Given the description of an element on the screen output the (x, y) to click on. 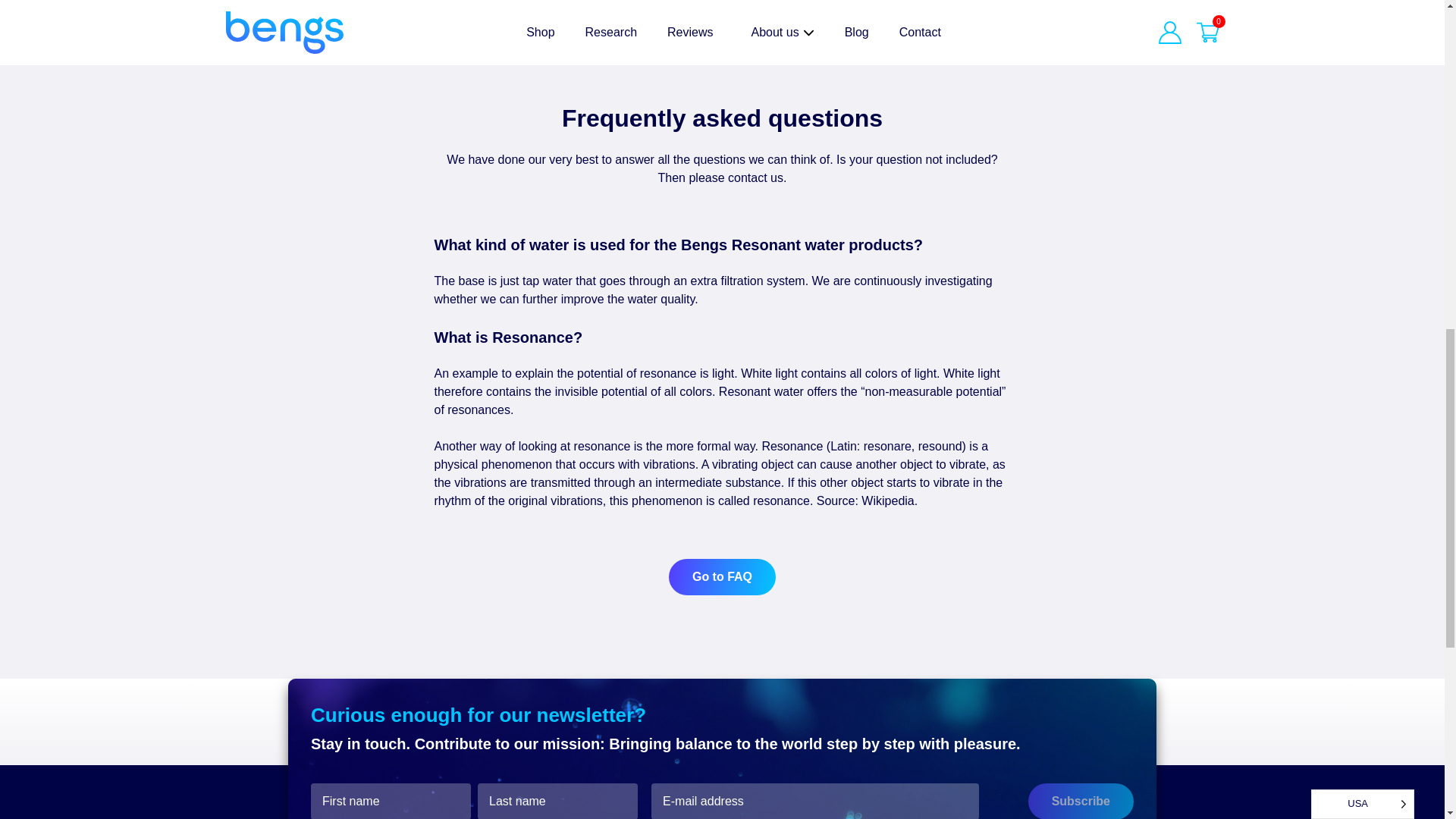
Subscribe (1080, 800)
Subscribe (1080, 800)
Go to FAQ (722, 576)
